Given the description of an element on the screen output the (x, y) to click on. 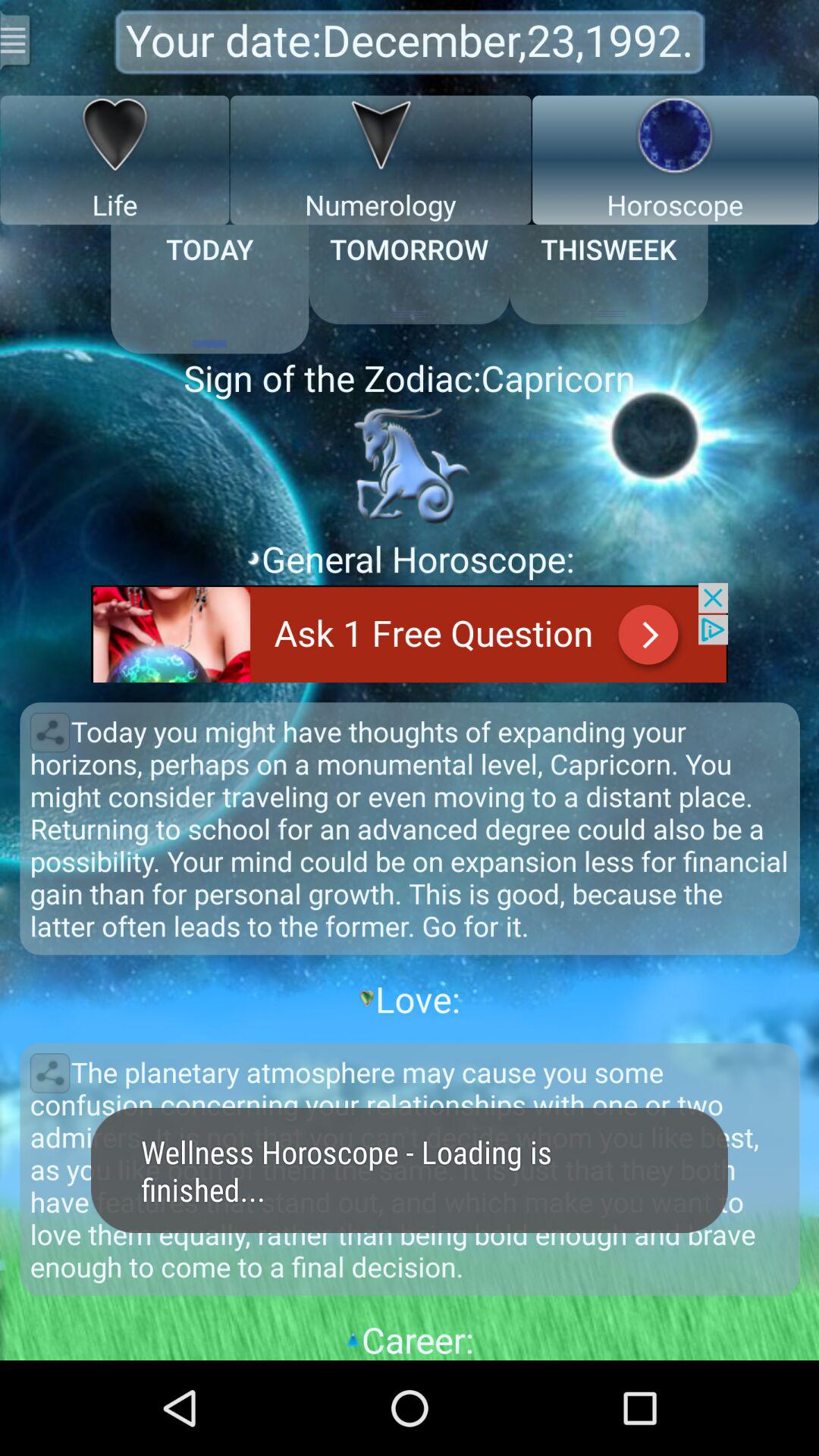
share paragraph (49, 1073)
